Given the description of an element on the screen output the (x, y) to click on. 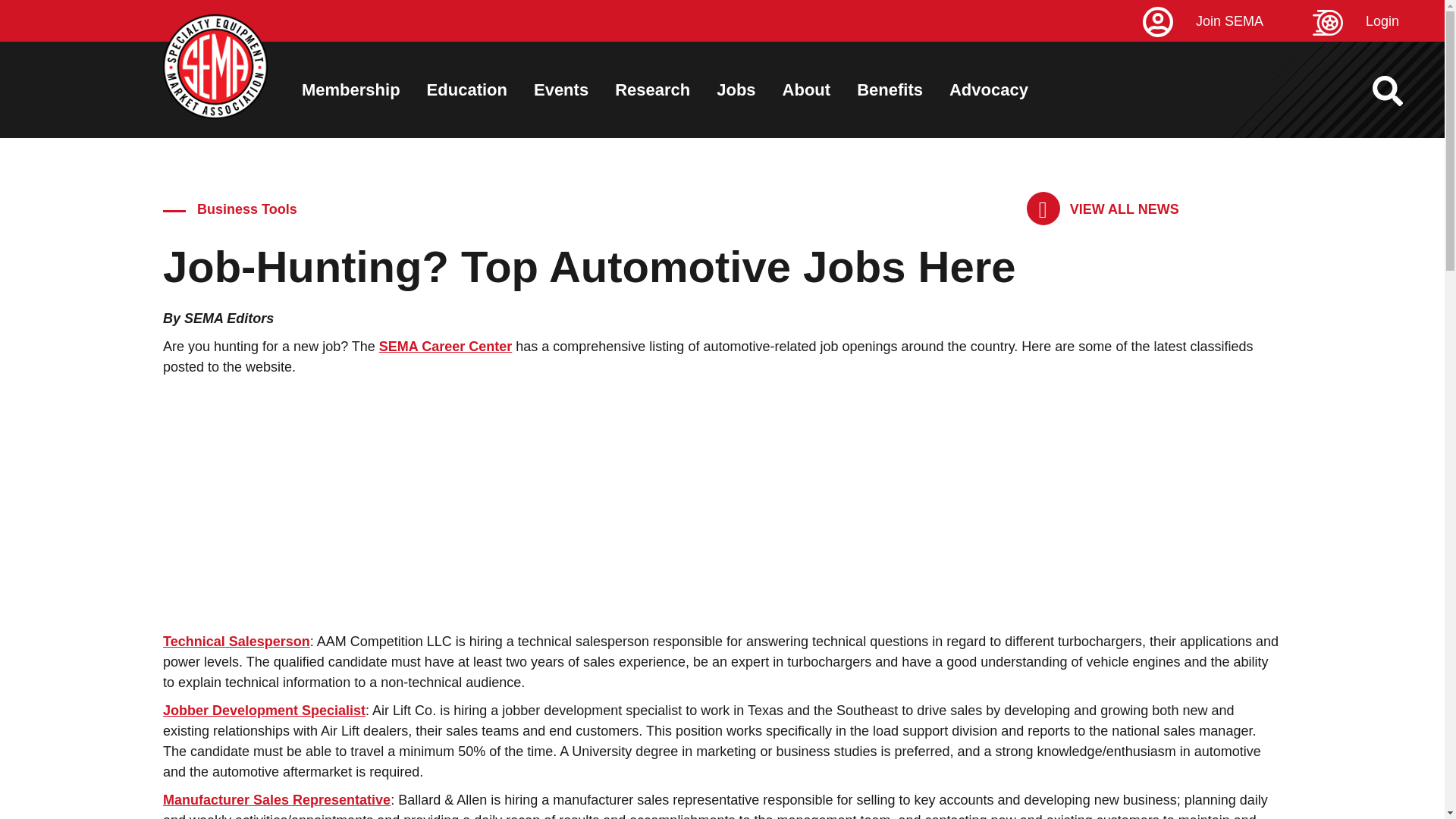
Benefits (889, 89)
About (807, 89)
SEMA Career Center (445, 346)
eNews archive (1102, 209)
Jobber Development Specialist (264, 710)
Manufacturer Sales Representative (276, 799)
Membership (350, 89)
Join SEMA (1225, 20)
Technical Salesperson (236, 641)
Advocacy (988, 89)
VIEW ALL NEWS (1102, 209)
Research (652, 89)
Events (560, 89)
Search Sema.org (1401, 91)
